Given the description of an element on the screen output the (x, y) to click on. 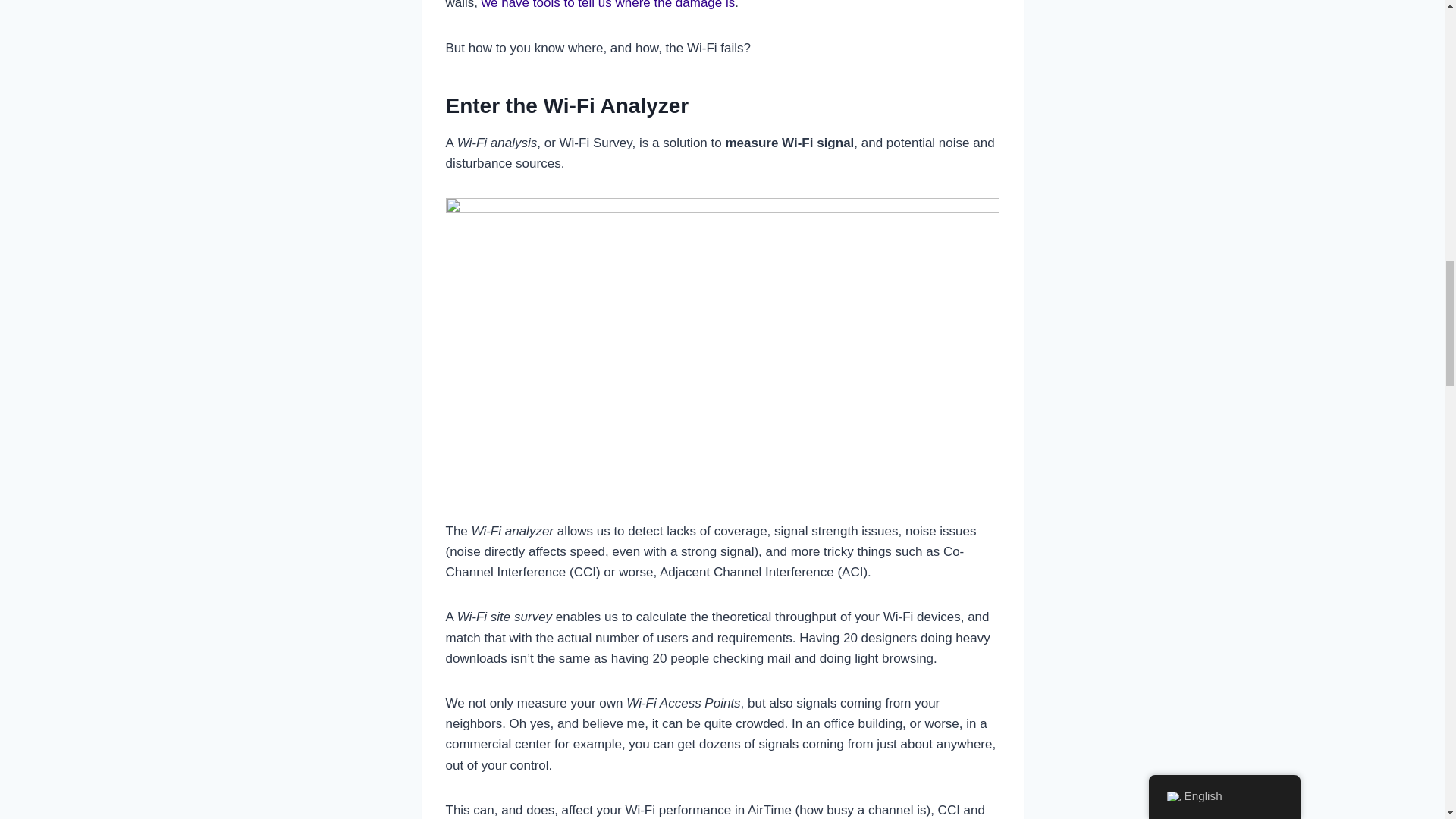
we have tools to tell us where the damage is (608, 4)
